Given the description of an element on the screen output the (x, y) to click on. 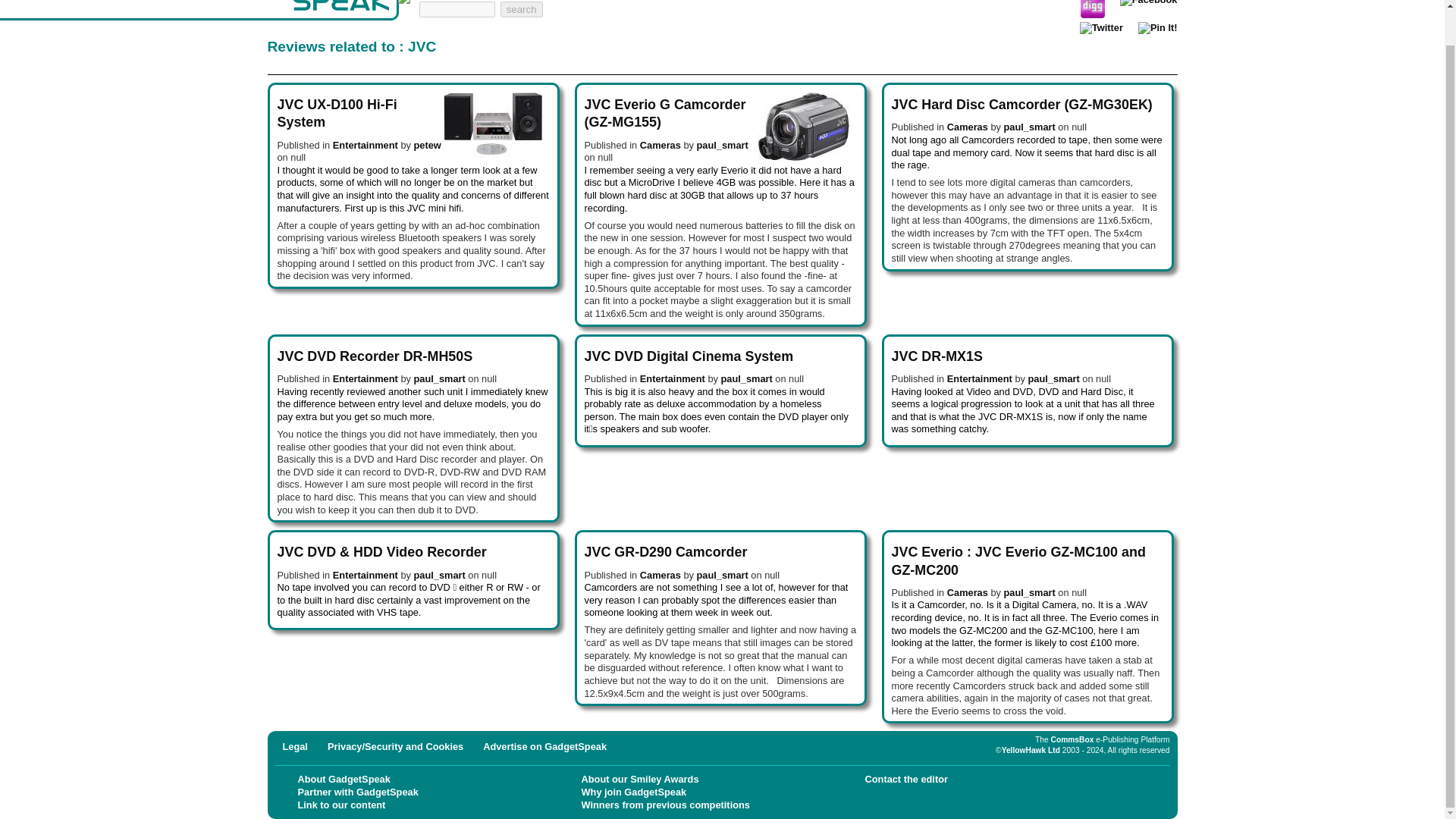
About GadgetSpeak (343, 778)
Entertainment (672, 378)
petew (427, 144)
Cameras (660, 144)
CommsBox (1072, 739)
Pinterest (1157, 28)
search (521, 9)
Entertainment (365, 574)
Cameras (660, 574)
Advertise on GadgetSpeak (545, 746)
